Given the description of an element on the screen output the (x, y) to click on. 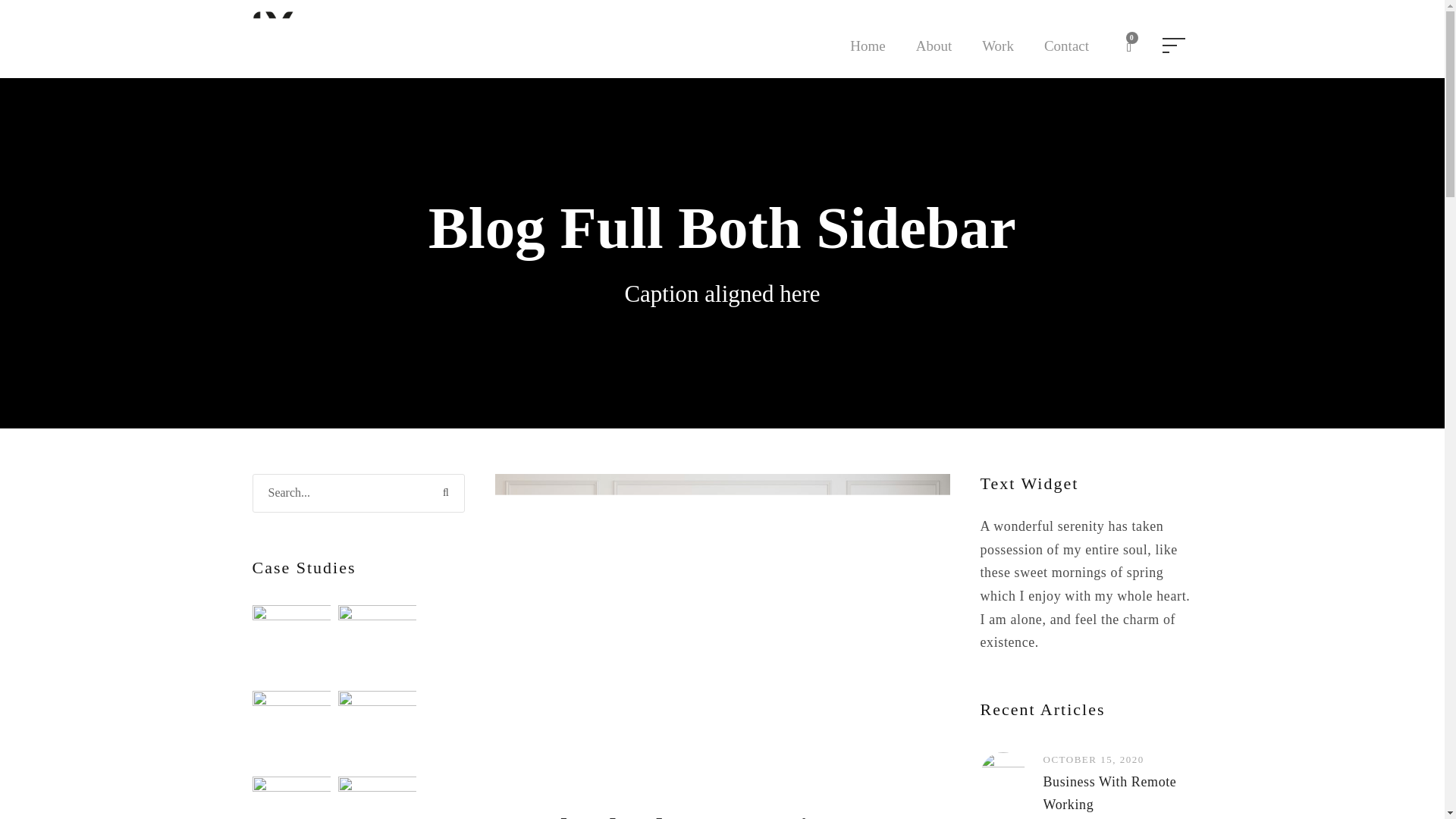
Image Title (290, 644)
Google Cloud not to pry into customer data (671, 816)
Contact (1066, 55)
